Given the description of an element on the screen output the (x, y) to click on. 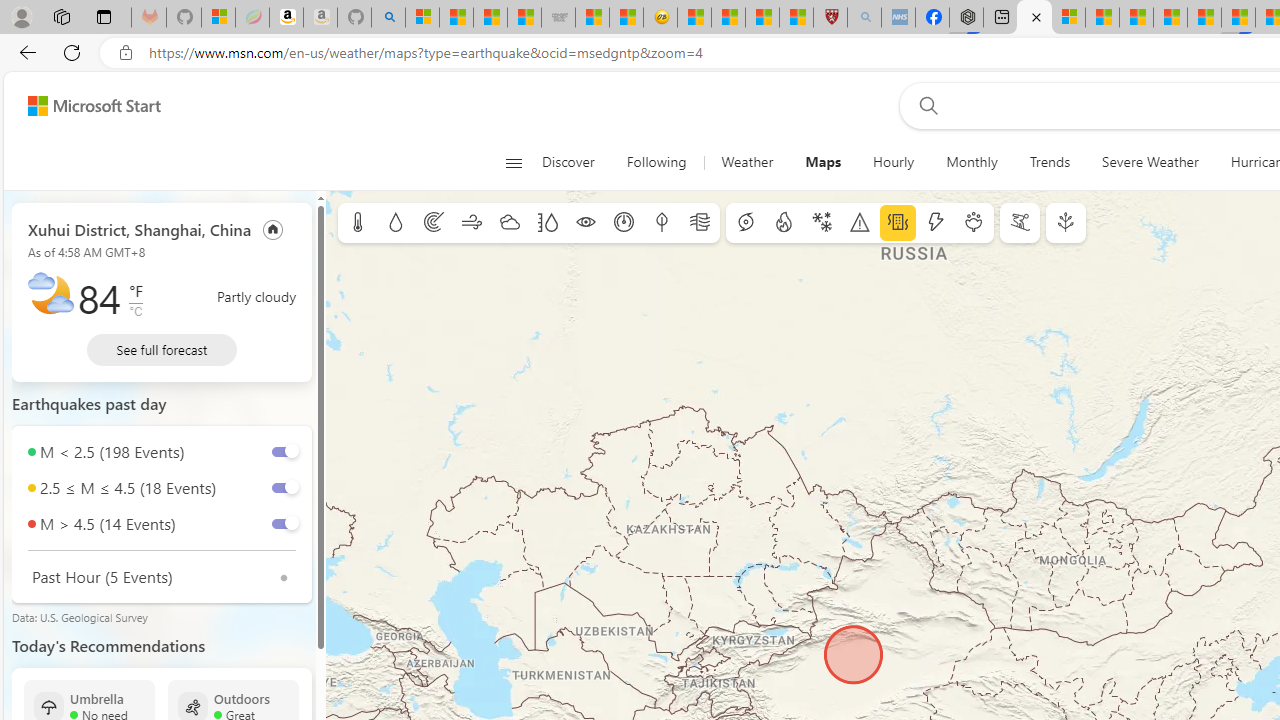
Following (658, 162)
Monthly (971, 162)
Tab actions menu (104, 16)
14 Common Myths Debunked By Scientific Facts (1170, 17)
Maps (822, 162)
Recipes - MSN (694, 17)
Hourly (893, 162)
See full forecast (161, 349)
Hourly (893, 162)
Stocks - MSN (524, 17)
NCL Adult Asthma Inhaler Choice Guideline - Sleeping (898, 17)
Hurricane (746, 223)
Weather (747, 162)
Temperature (358, 223)
